Given the description of an element on the screen output the (x, y) to click on. 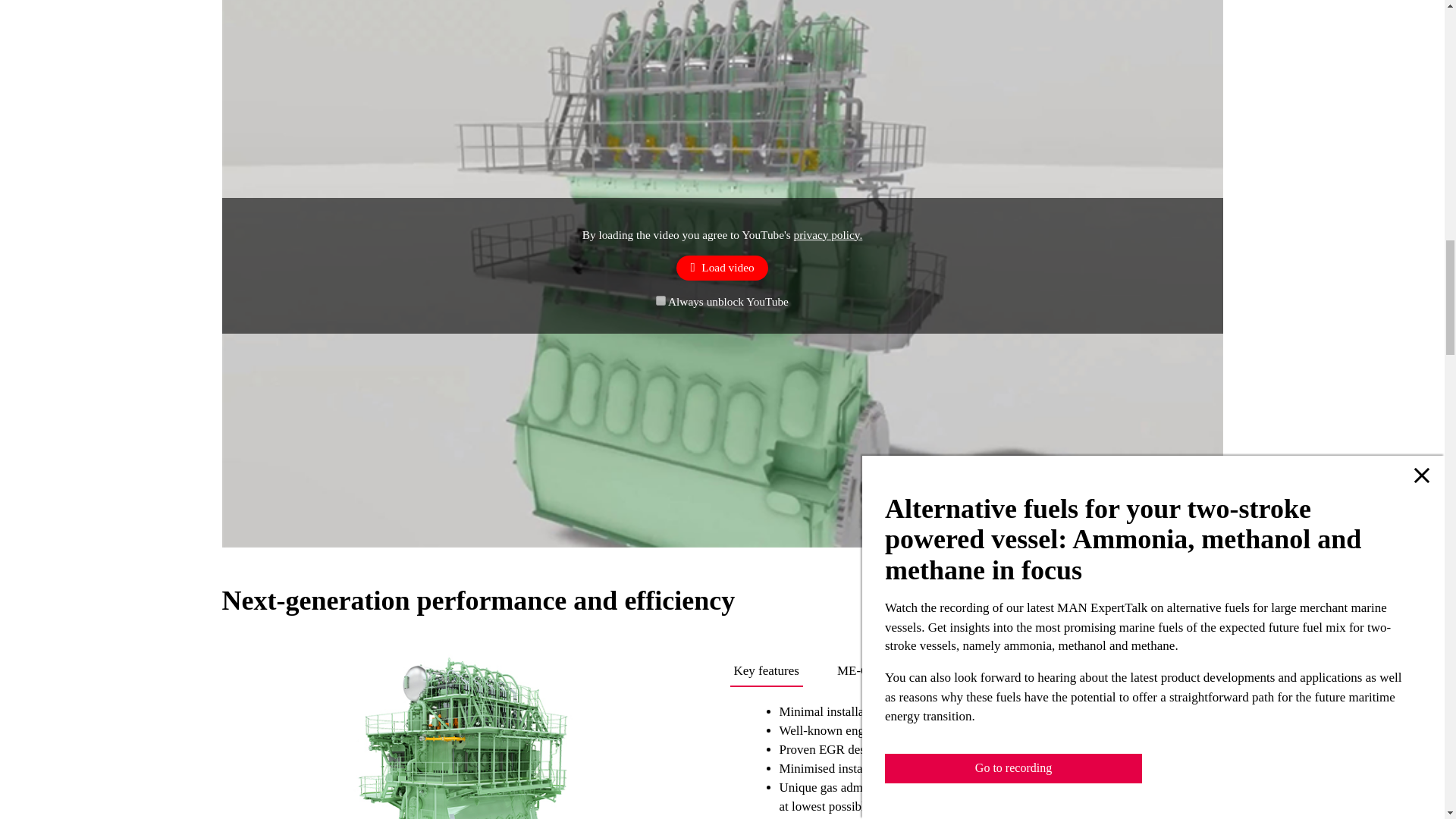
04-5G70ME-GA-inner-sectioncut (110, 736)
01-5G70ME-GA-front-view (467, 736)
unblock-youtube (660, 300)
